Given the description of an element on the screen output the (x, y) to click on. 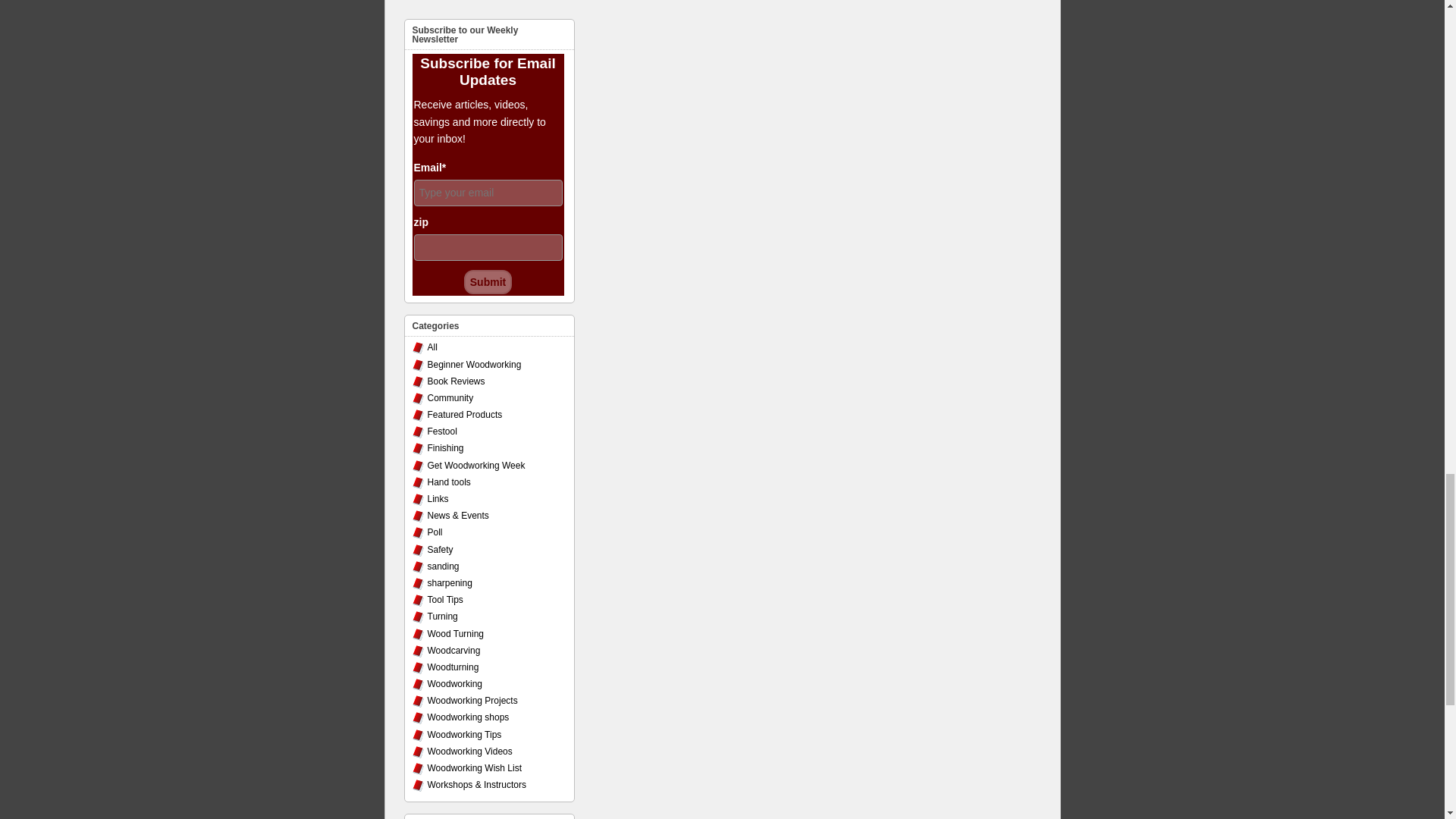
Beginner Woodworking (474, 364)
Community (451, 398)
Submit (488, 282)
Featured Products (465, 414)
All (433, 347)
Book Reviews (456, 380)
Festool (442, 430)
